Given the description of an element on the screen output the (x, y) to click on. 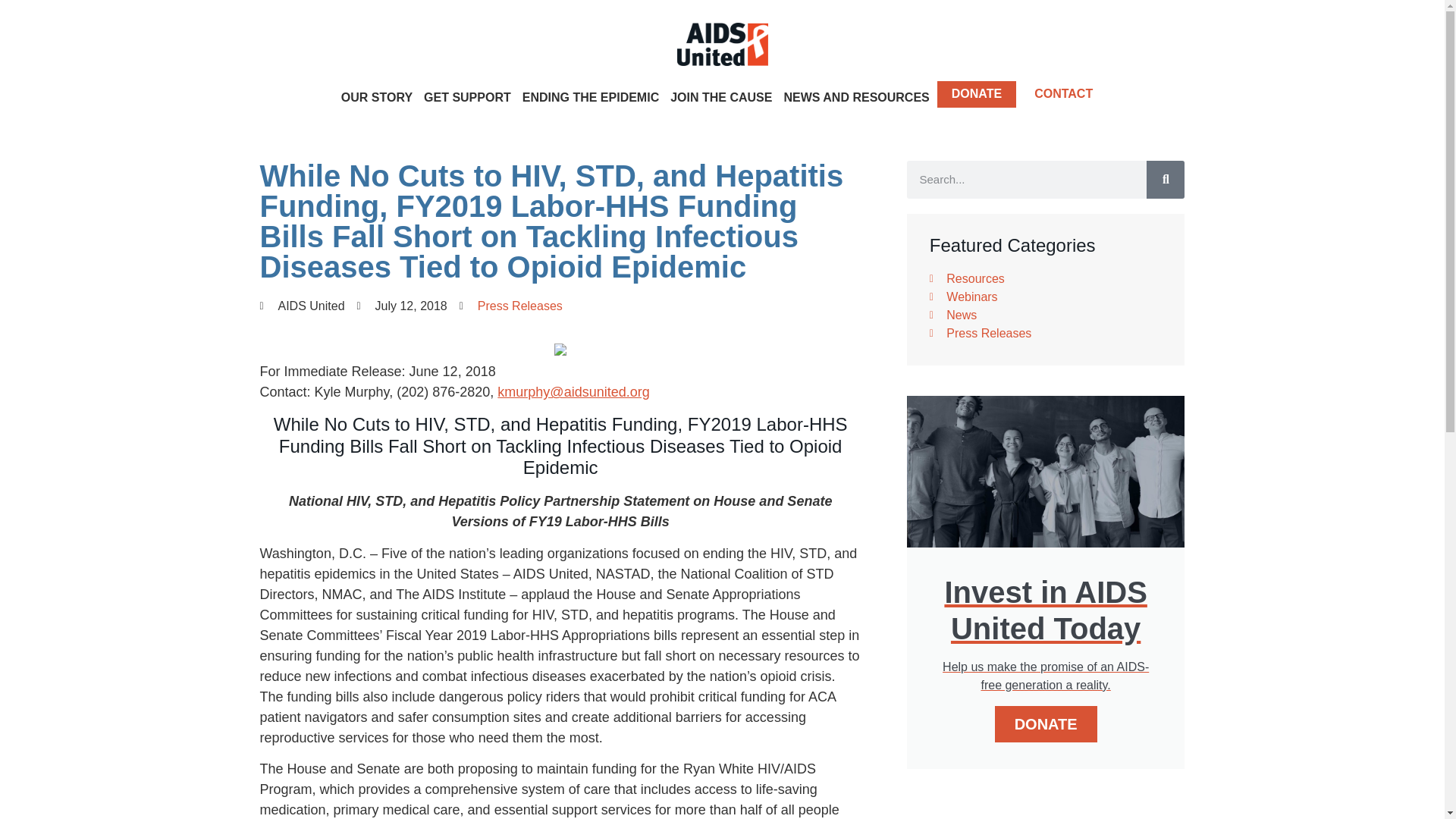
ENDING THE EPIDEMIC (590, 97)
OUR STORY (376, 97)
GET SUPPORT (467, 97)
DONATE (976, 94)
CONTACT (1063, 94)
NEWS AND RESOURCES (855, 97)
JOIN THE CAUSE (721, 97)
